Given the description of an element on the screen output the (x, y) to click on. 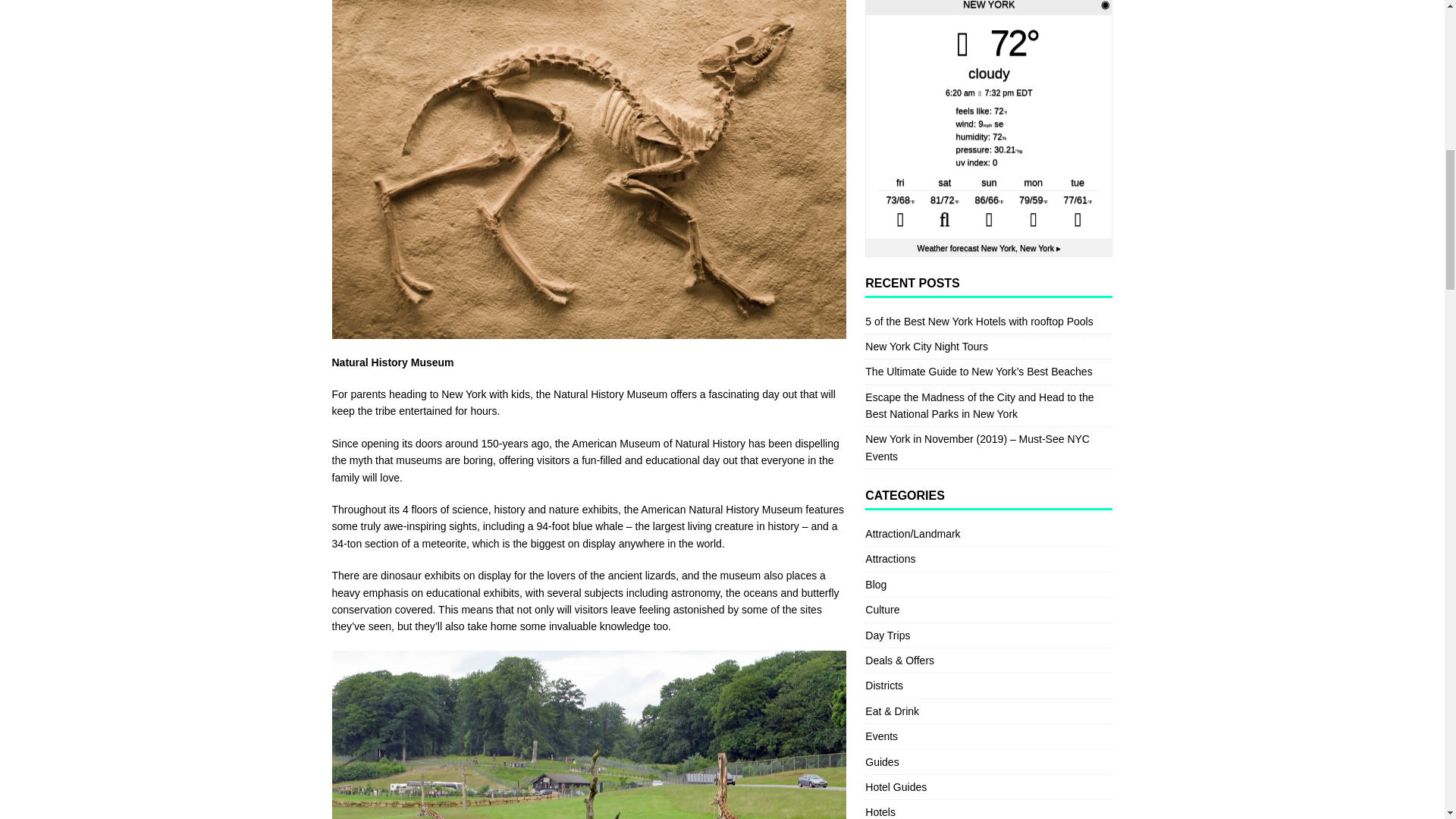
Sunny (1077, 212)
AM Thunderstorms (988, 212)
Weather Atlas - Weather forecast New York, New York (989, 247)
AM Showers (900, 212)
Sunny (1034, 212)
